Given the description of an element on the screen output the (x, y) to click on. 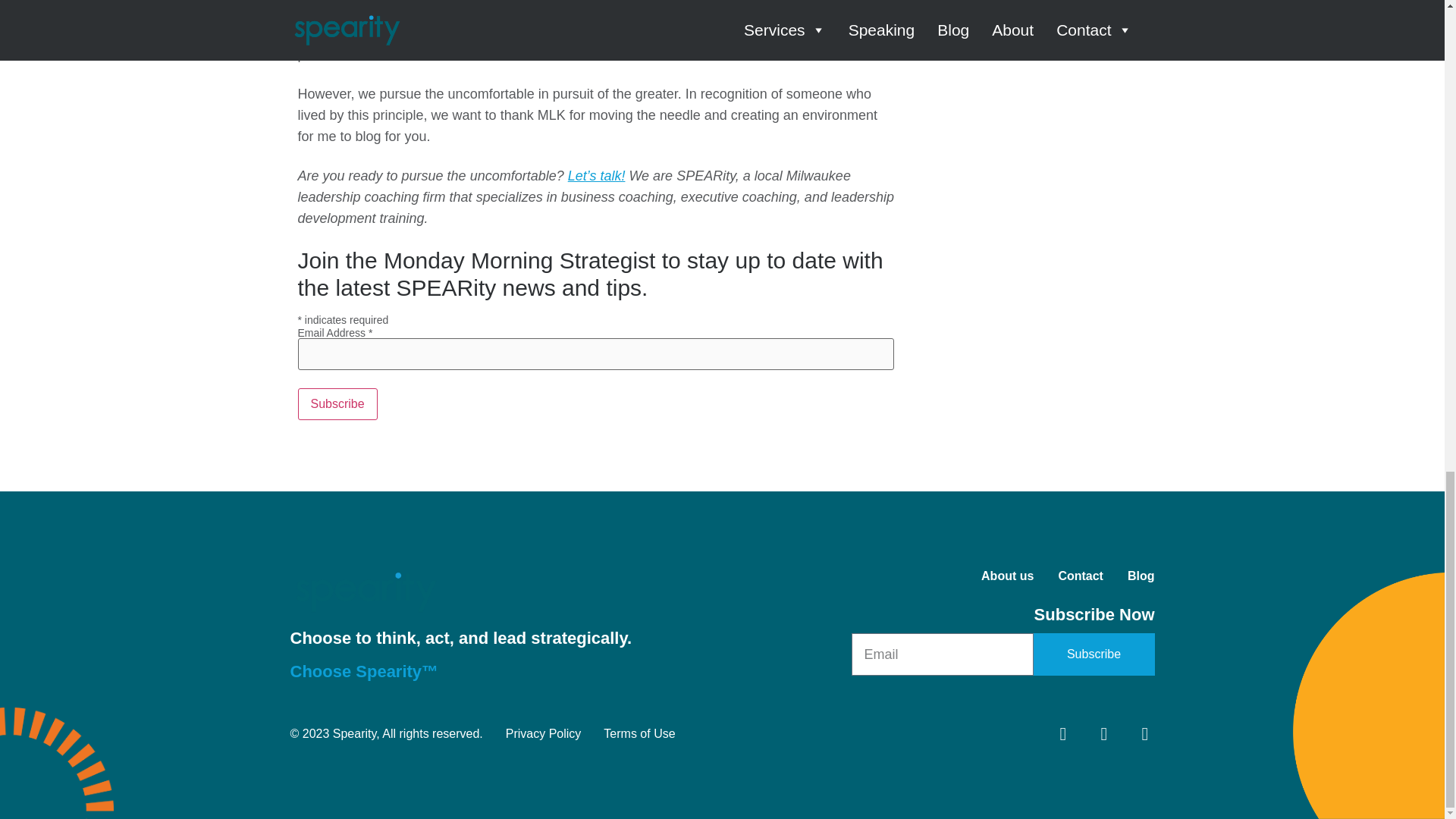
Subscribe (337, 404)
Subscribe (337, 404)
